Given the description of an element on the screen output the (x, y) to click on. 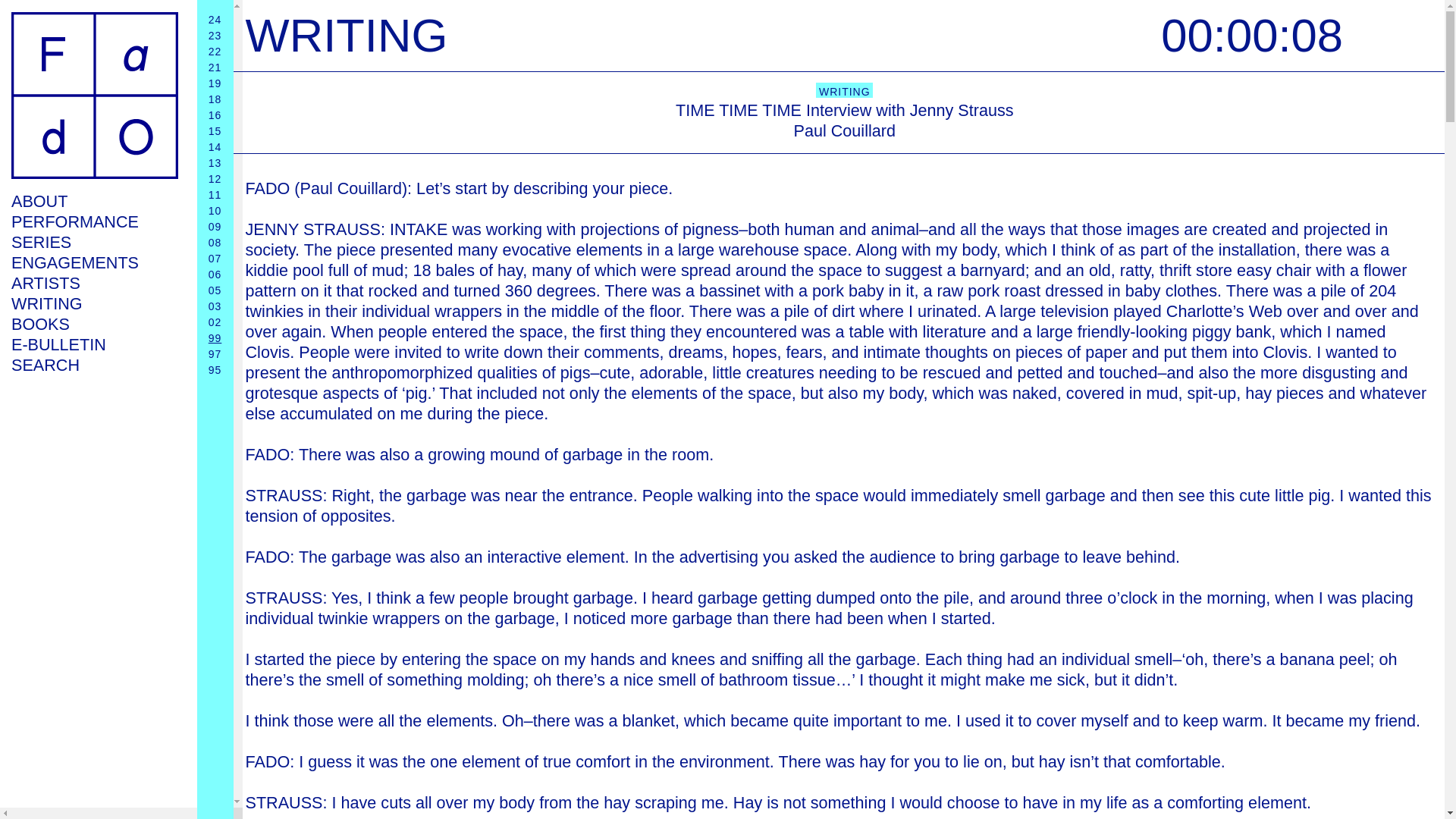
SEARCH (94, 364)
22 (215, 51)
SERIES (94, 241)
13 (215, 162)
WRITING (94, 303)
ENGAGEMENTS (94, 262)
E-BULLETIN (94, 344)
24 (215, 19)
09 (215, 226)
06 (215, 274)
BOOKS (94, 323)
PERFORMANCE (94, 221)
ARTISTS (94, 282)
ABOUT (94, 200)
05 (215, 290)
